Given the description of an element on the screen output the (x, y) to click on. 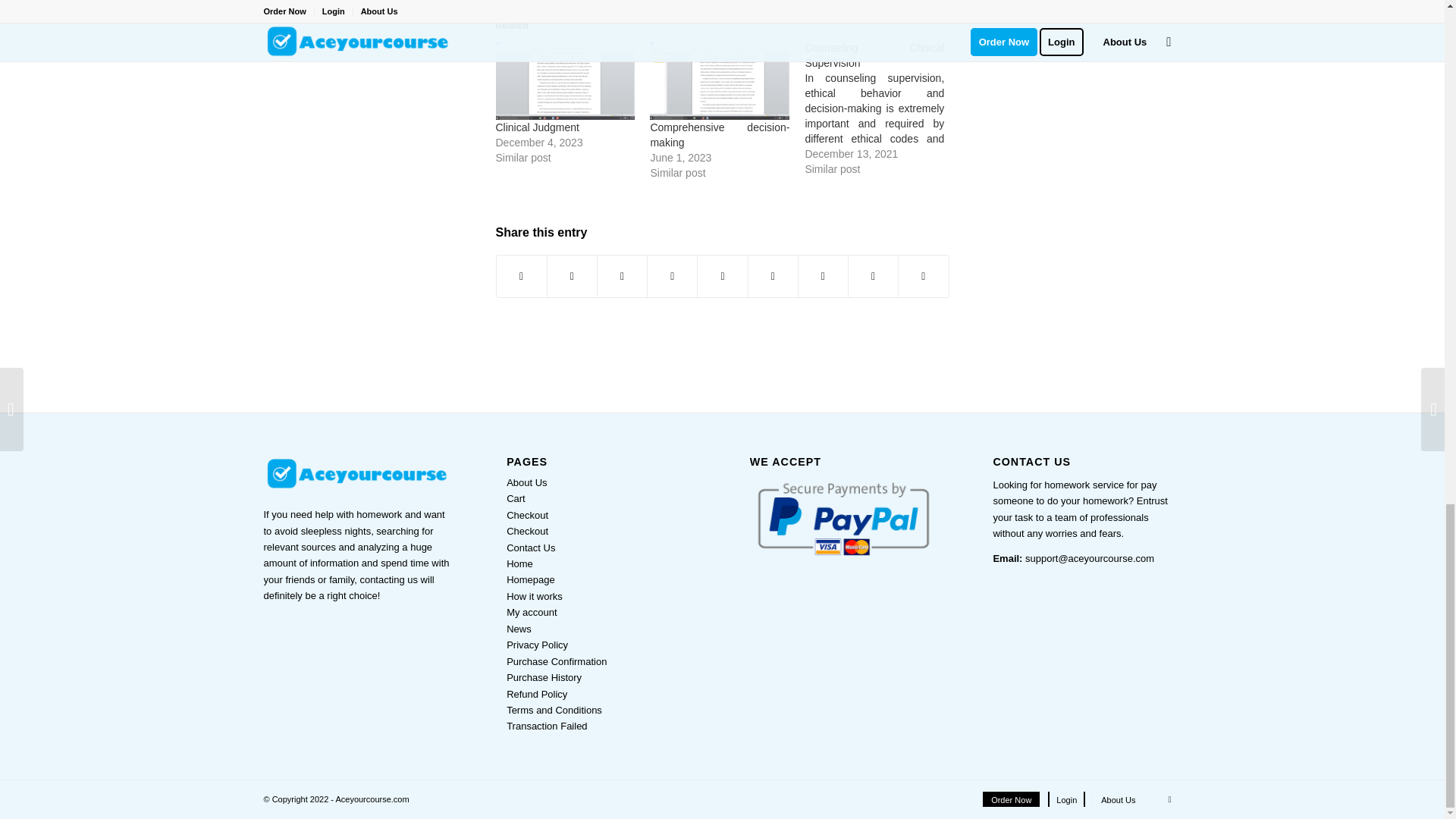
Clinical Judgment (537, 127)
Comprehensive decision-making (719, 134)
Comprehensive decision-making (719, 79)
Clinical Judgment (537, 127)
Counseling Clinical Supervision (882, 108)
Clinical Judgment (565, 79)
Counseling Clinical Supervision (874, 54)
Comprehensive decision-making (719, 134)
Counseling Clinical Supervision (874, 54)
